Given the description of an element on the screen output the (x, y) to click on. 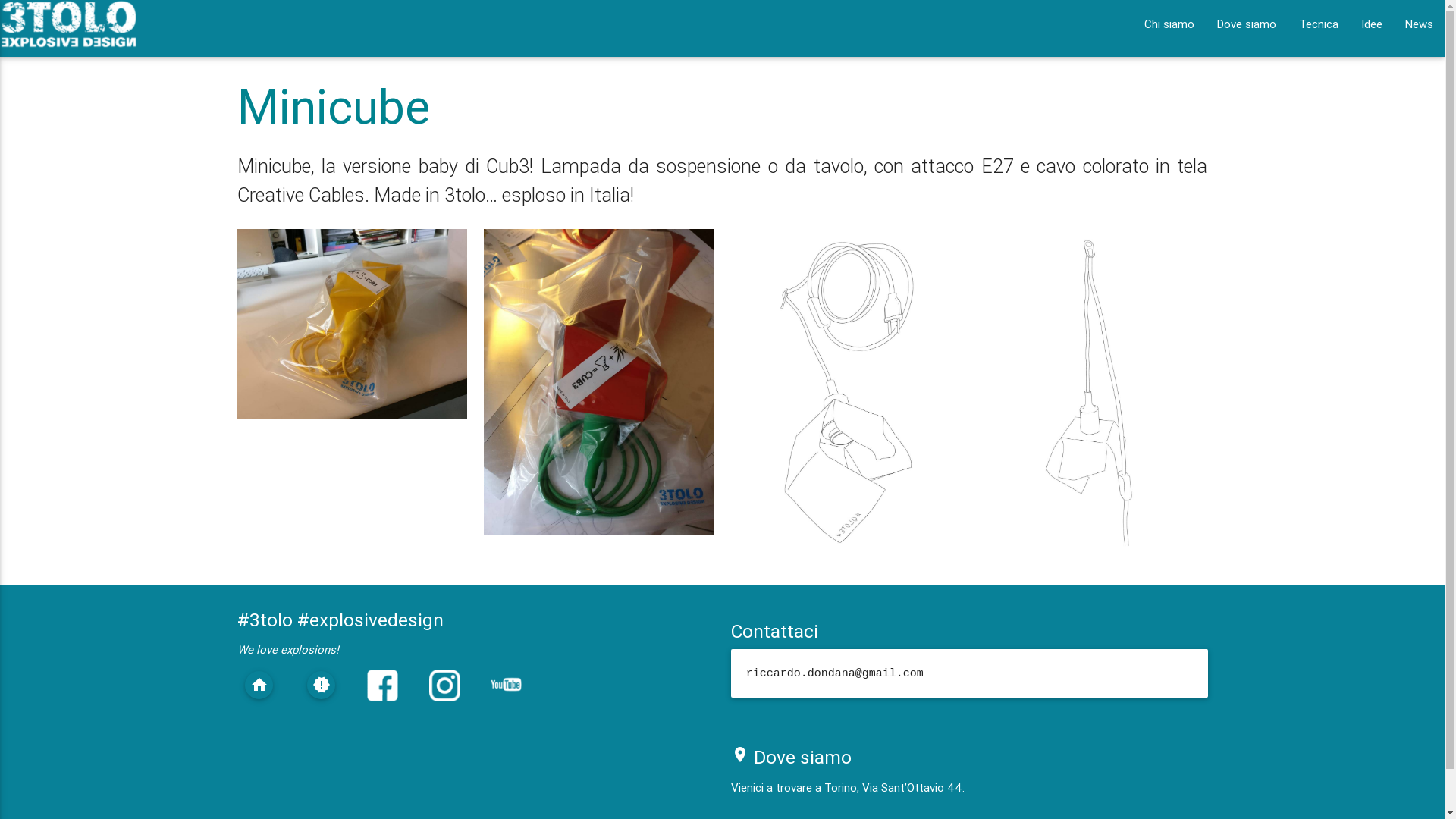
Dove siamo Element type: text (802, 756)
Chi siamo Element type: text (1168, 24)
new_releases Element type: text (321, 685)
Minicube Element type: text (332, 105)
3TOLO su YouTube Element type: hover (505, 694)
News Element type: text (1418, 24)
Dove siamo Element type: text (1246, 24)
Tecnica Element type: text (1318, 24)
home Element type: text (258, 685)
3TOLO su Instagram Element type: hover (444, 697)
3TOLO su Facebook Element type: hover (382, 697)
Explosive Design Element type: hover (69, 32)
3TOLO Element type: hover (69, 24)
Idee Element type: text (1371, 24)
